Given the description of an element on the screen output the (x, y) to click on. 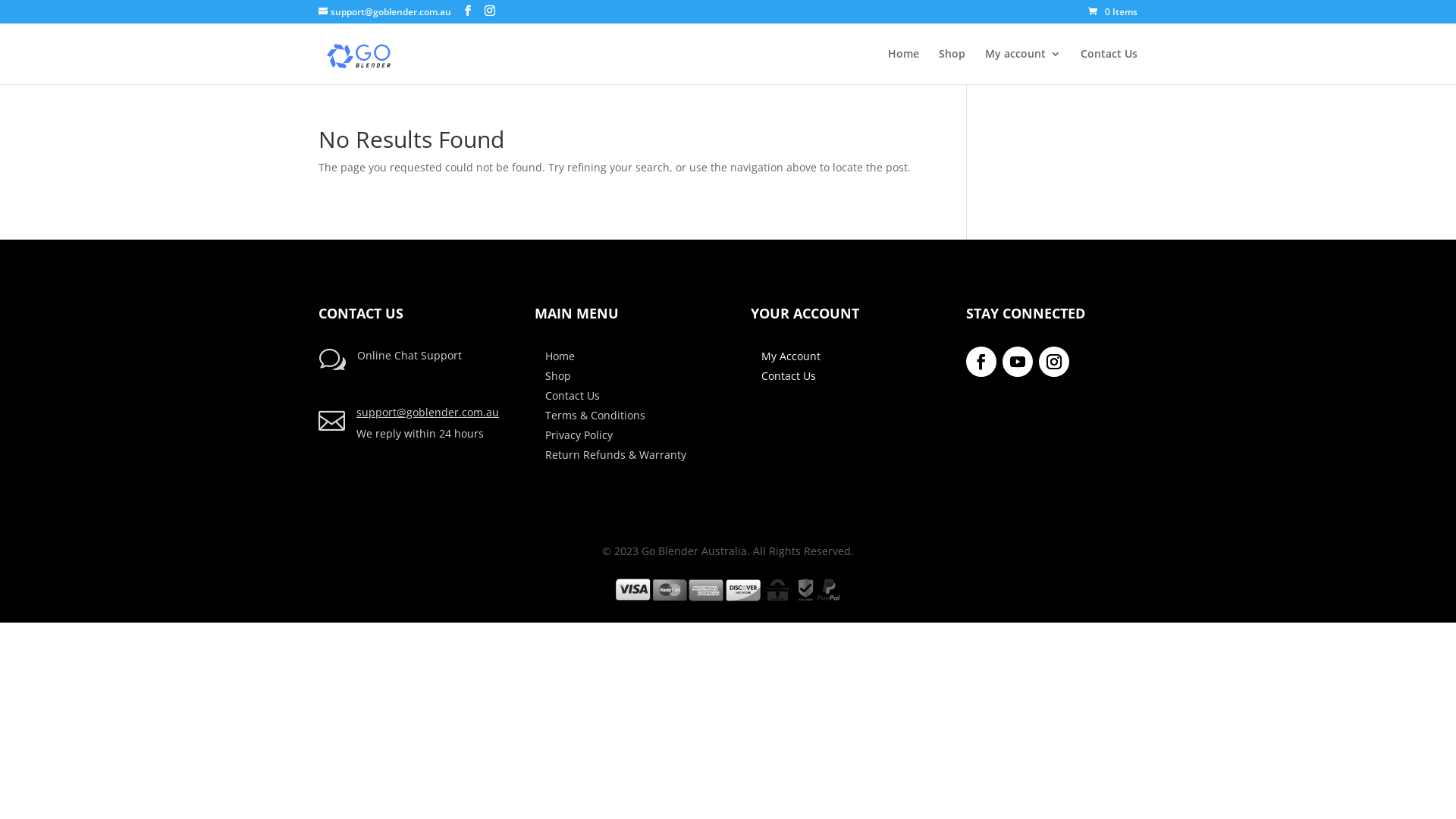
My Account Element type: text (790, 355)
Follow on Facebook Element type: hover (981, 361)
support@goblender.com.au Element type: text (427, 411)
Privacy Policy Element type: text (578, 434)
support@goblender.com.au Element type: text (384, 11)
Return Refunds & Warranty Element type: text (615, 454)
Shop Element type: text (558, 375)
Terms & Conditions Element type: text (595, 414)
Checkout_Badge_Black Element type: hover (727, 583)
Home Element type: text (559, 355)
0 Items Element type: text (1112, 11)
My account Element type: text (1022, 66)
Home Element type: text (903, 66)
Contact Us Element type: text (1108, 66)
Contact Us Element type: text (572, 395)
Shop Element type: text (951, 66)
Follow on Instagram Element type: hover (1053, 361)
Contact Us Element type: text (788, 375)
Follow on Youtube Element type: hover (1017, 361)
